Given the description of an element on the screen output the (x, y) to click on. 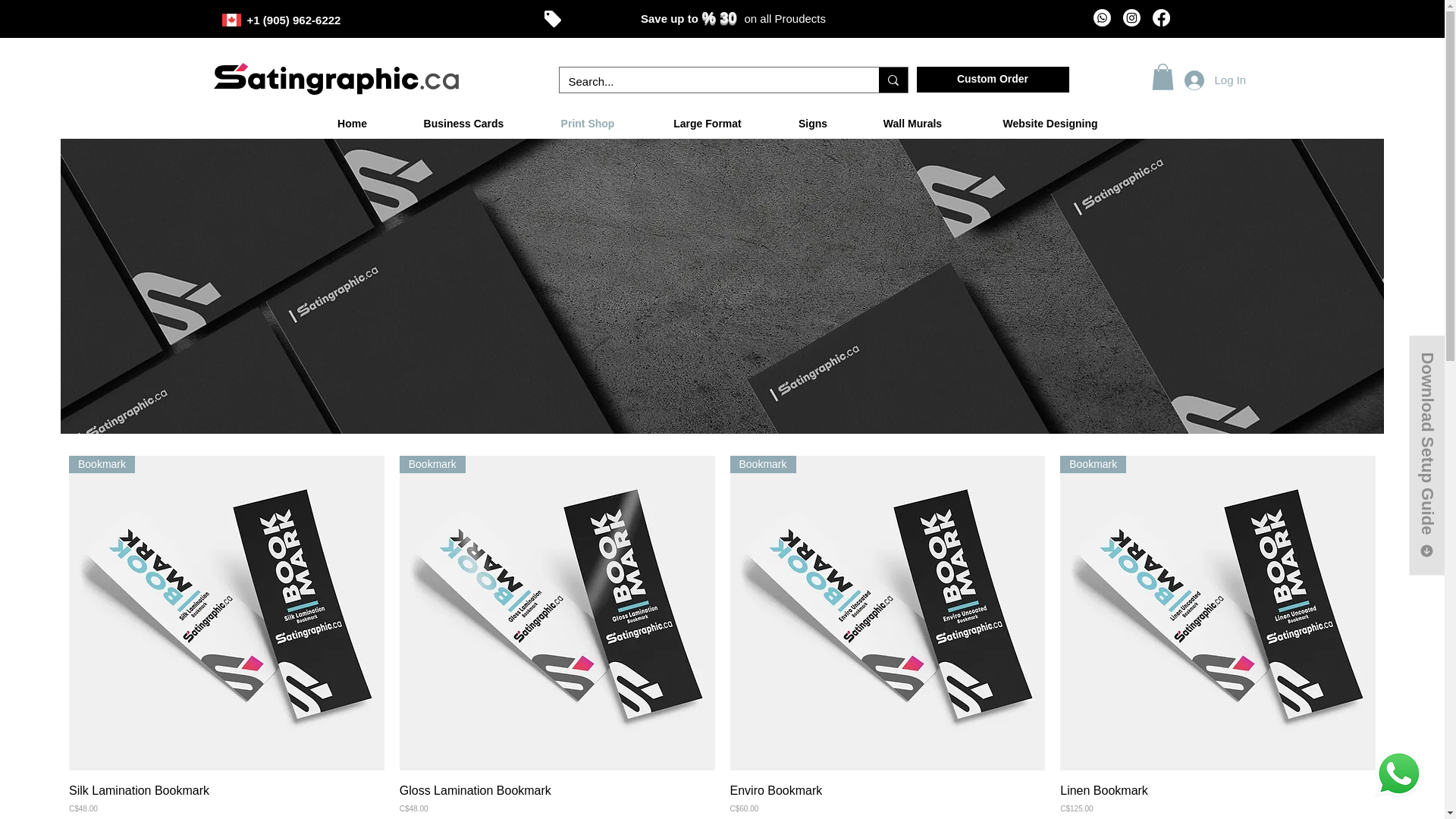
Log In (1206, 79)
Signs (812, 124)
Print Shop (587, 124)
Custom Order (991, 79)
Home (352, 124)
Business Cards (464, 124)
Large Format (707, 124)
